Given the description of an element on the screen output the (x, y) to click on. 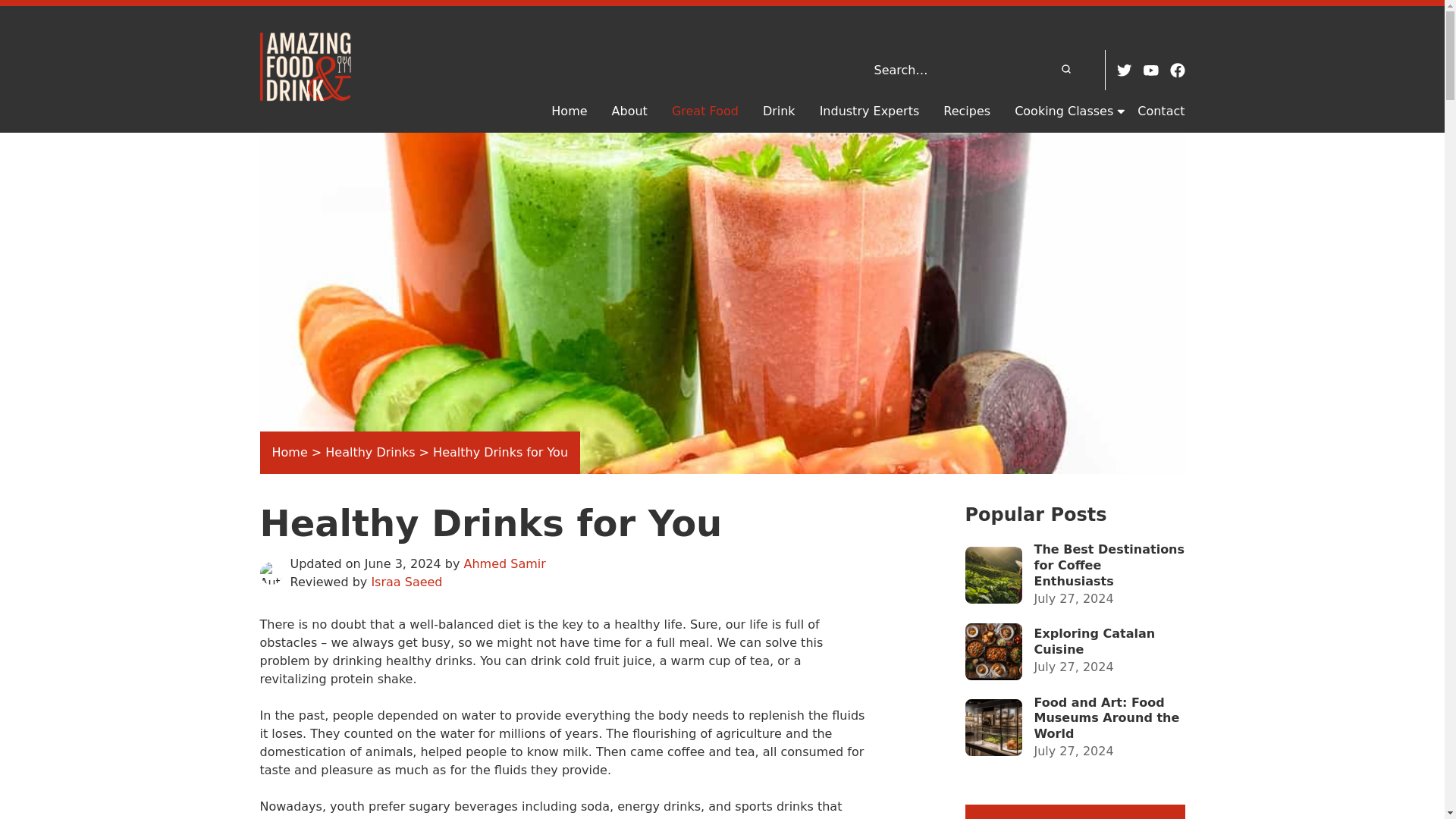
Home (568, 111)
Cooking Classes (1063, 111)
Recipes (966, 111)
Ahmed Samir (505, 563)
Contact (1161, 111)
Great Food (704, 111)
Home (288, 452)
Healthy Drinks (369, 452)
Drink (778, 111)
YouTube (1150, 70)
Facebook (1177, 70)
Industry Experts (869, 111)
About (629, 111)
Twitter (1123, 70)
